Given the description of an element on the screen output the (x, y) to click on. 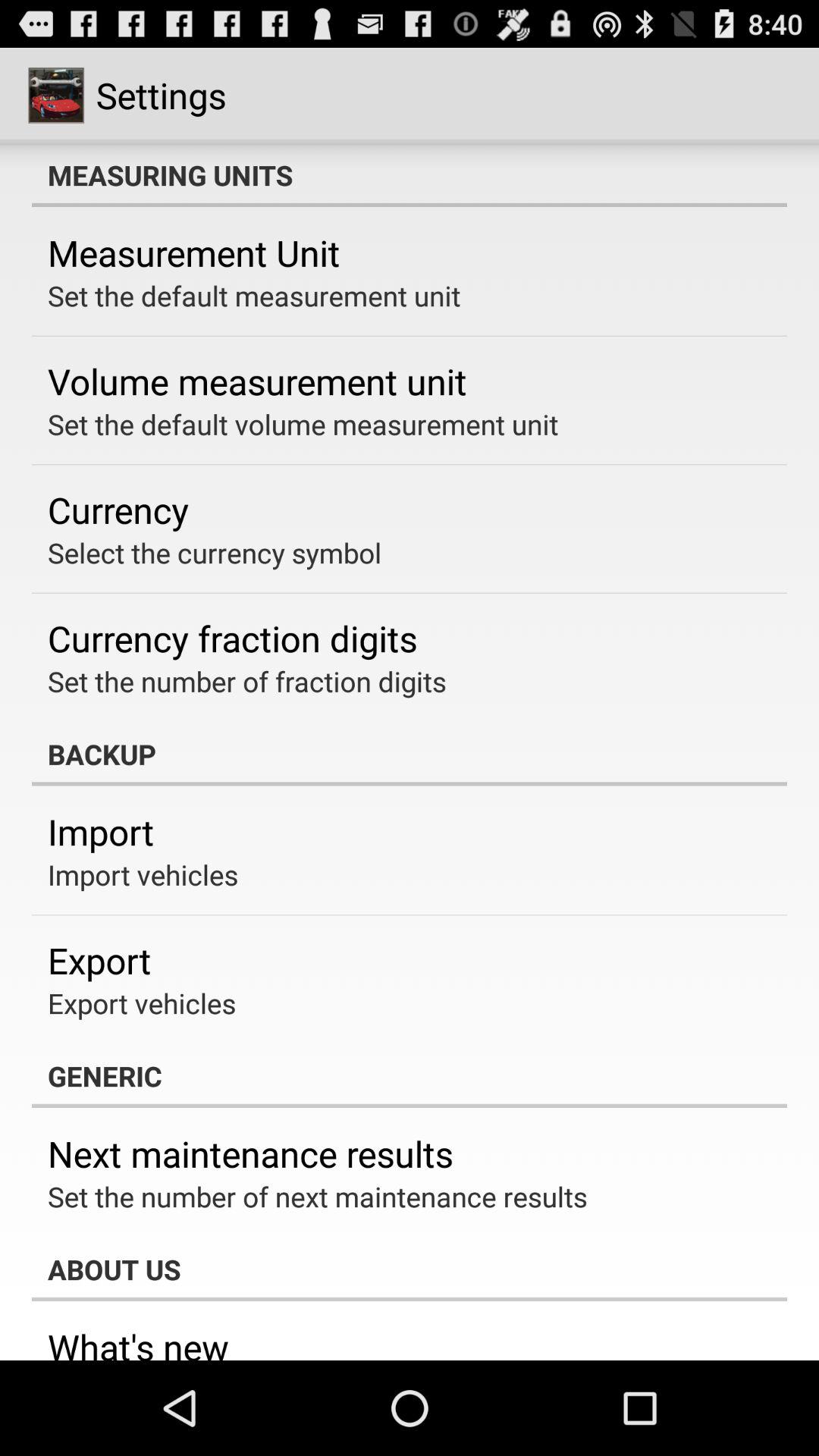
select app below import app (142, 874)
